Given the description of an element on the screen output the (x, y) to click on. 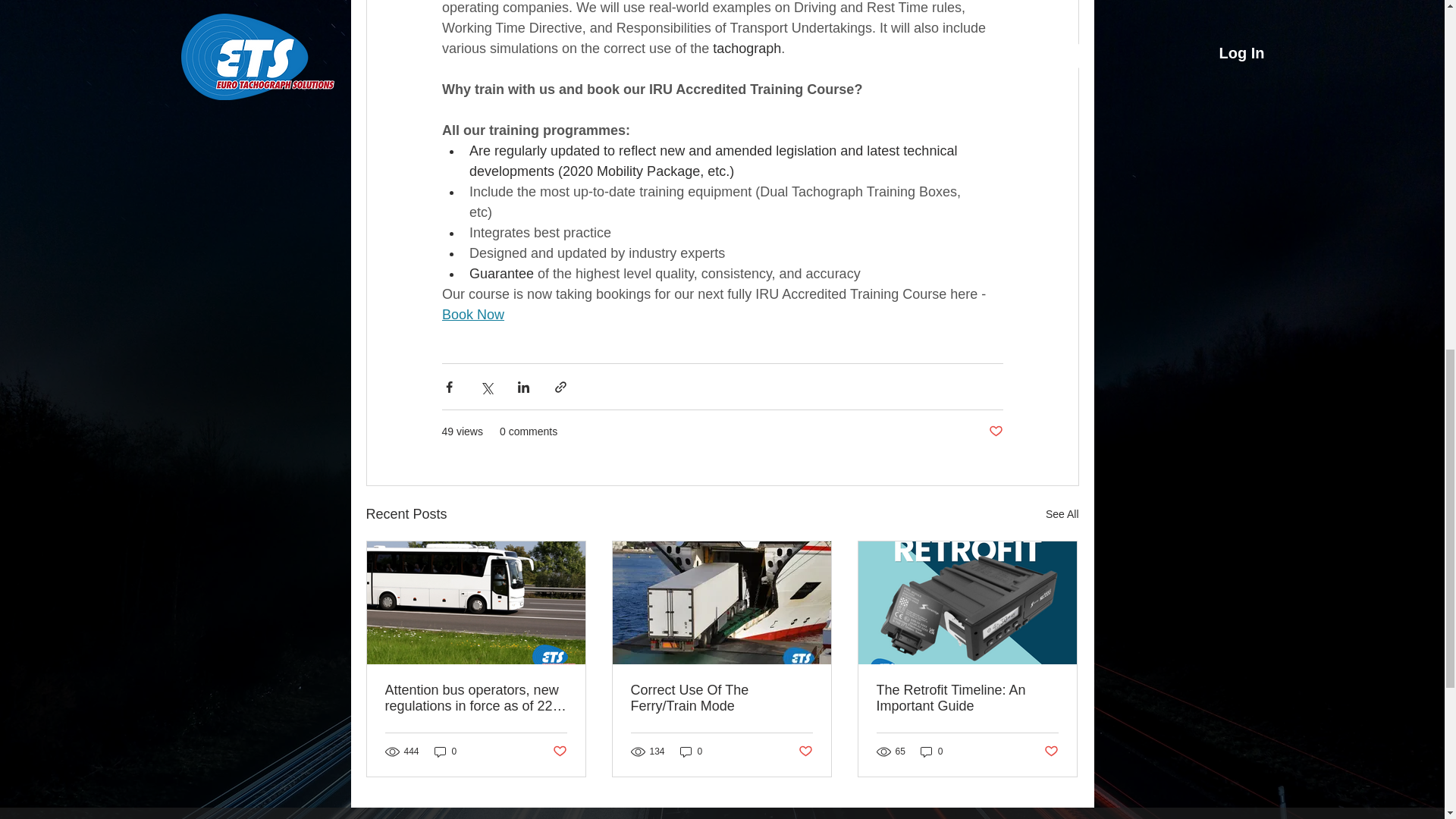
Post not marked as liked (558, 750)
Post not marked as liked (1050, 750)
See All (1061, 514)
0 (931, 751)
The Retrofit Timeline: An Important Guide (967, 698)
Post not marked as liked (804, 750)
Book Now (472, 314)
0 (445, 751)
0 (691, 751)
